Given the description of an element on the screen output the (x, y) to click on. 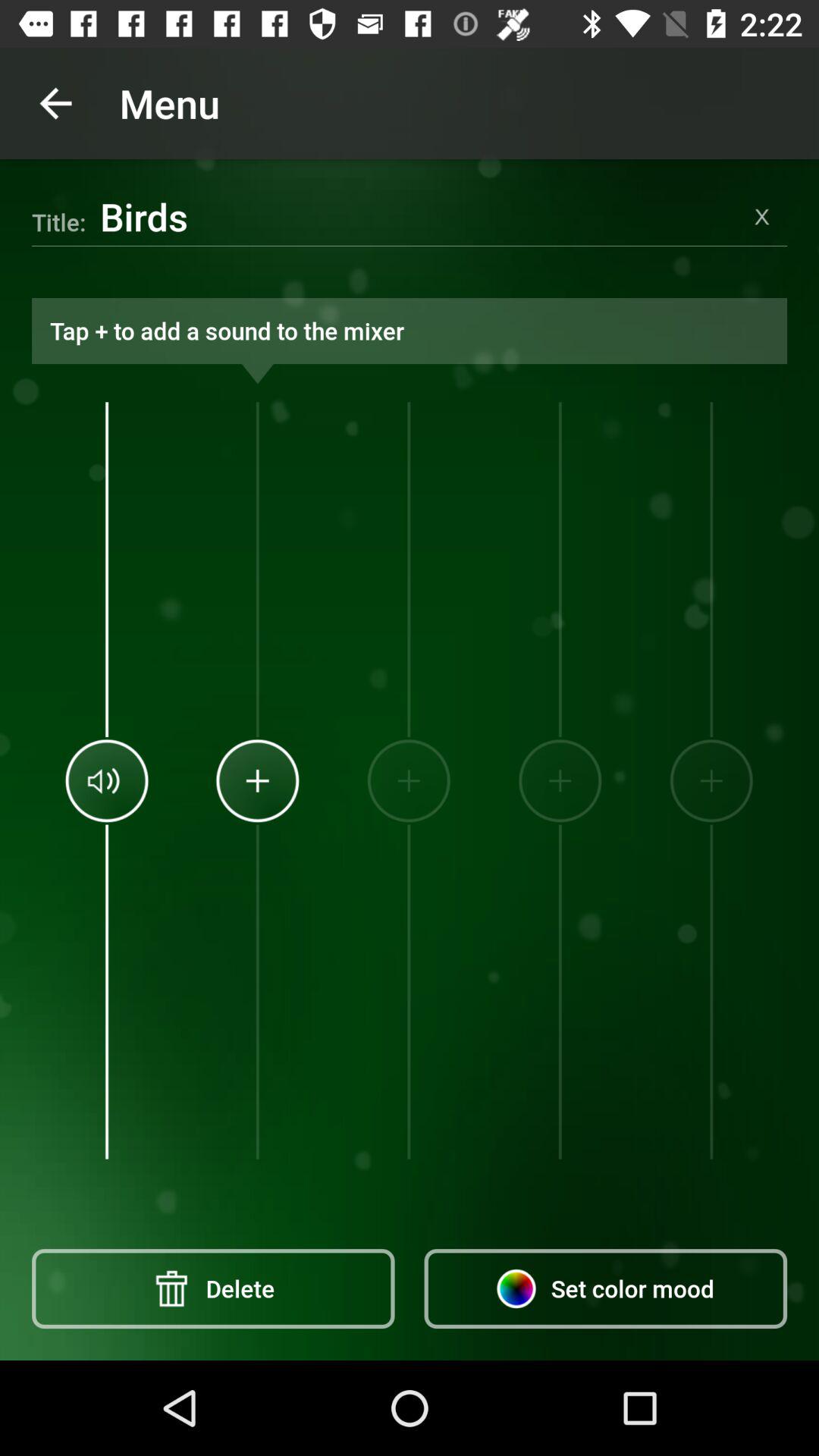
click item above set color mood icon (711, 780)
